Given the description of an element on the screen output the (x, y) to click on. 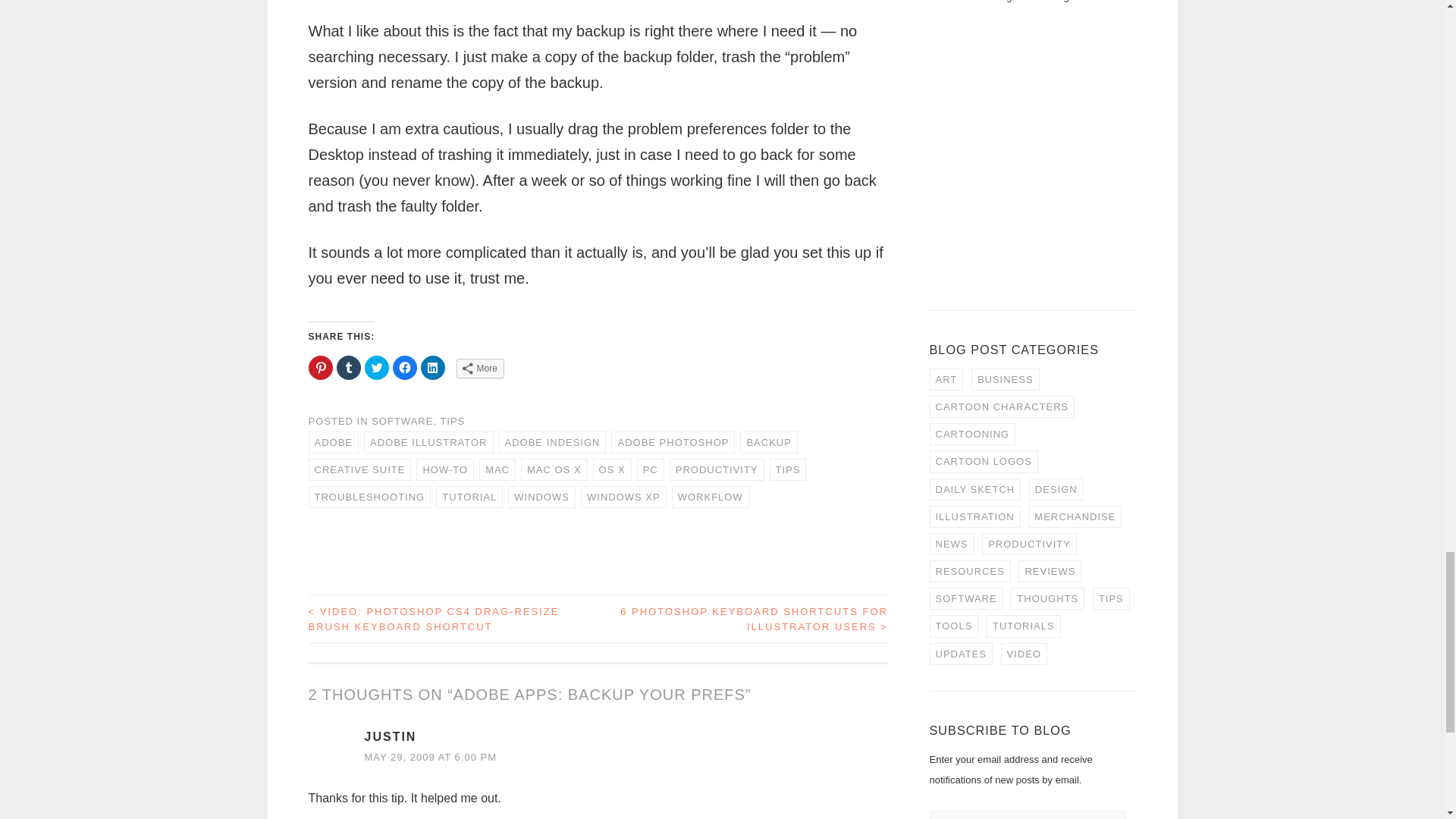
ADOBE ILLUSTRATOR (428, 442)
More (480, 368)
ADOBE (332, 442)
MAC OS X (554, 469)
Click to share on Twitter (376, 367)
ADOBE PHOTOSHOP (673, 442)
CREATIVE SUITE (358, 469)
OS X (611, 469)
Click to share on Pinterest (319, 367)
MAC (497, 469)
HOW-TO (445, 469)
TIPS (788, 469)
SOFTWARE (401, 420)
PRODUCTIVITY (716, 469)
TIPS (451, 420)
